Given the description of an element on the screen output the (x, y) to click on. 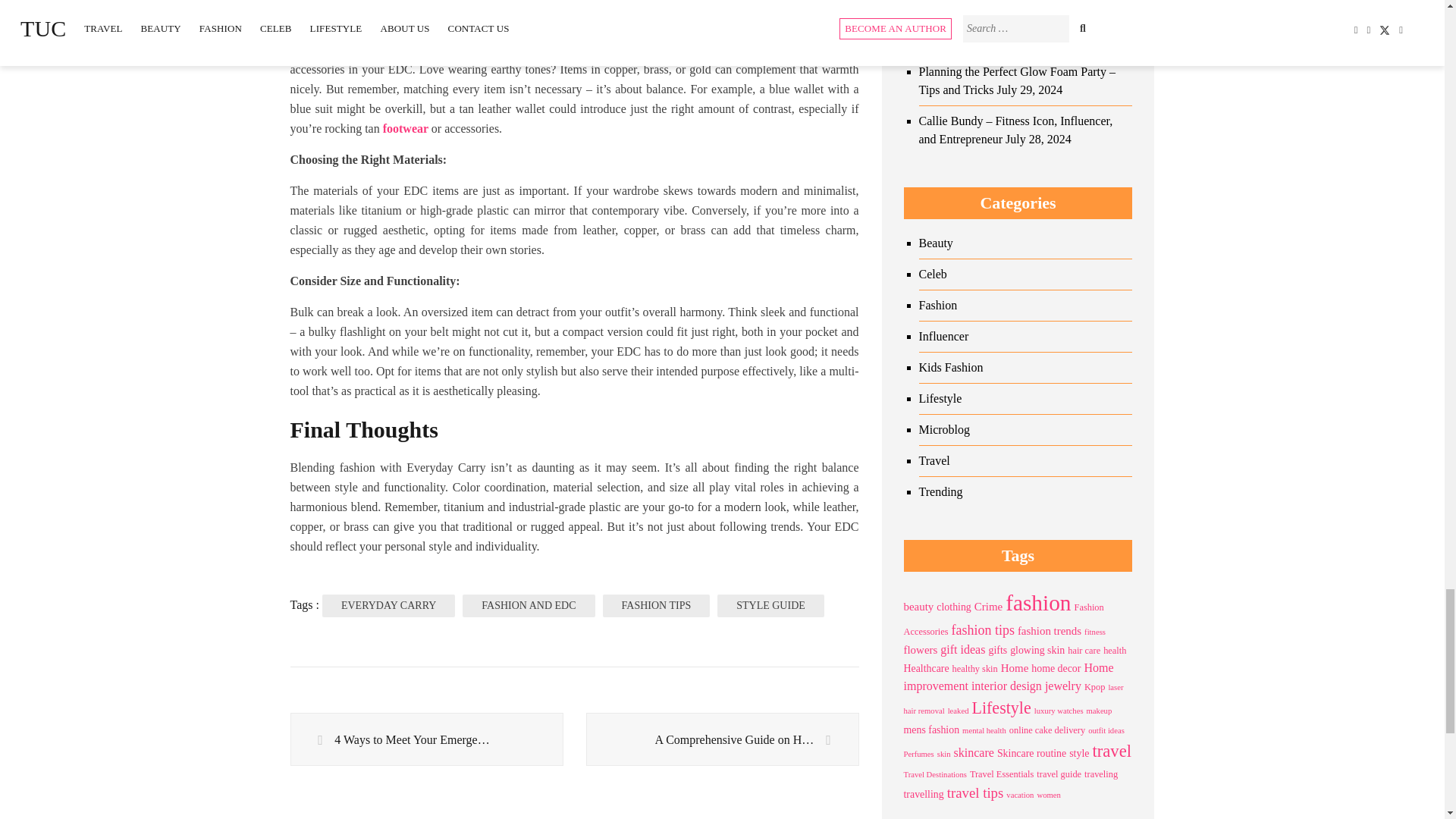
FASHION TIPS (656, 605)
A Comprehensive Guide on How to Style Sneakers (722, 739)
4 Ways to Meet Your Emergency Financial Needs (426, 739)
FASHION AND EDC (528, 605)
STYLE GUIDE (770, 605)
EVERYDAY CARRY (387, 605)
4 Ways to Meet Your Emergency Financial Needs (426, 739)
footwear (405, 128)
